Given the description of an element on the screen output the (x, y) to click on. 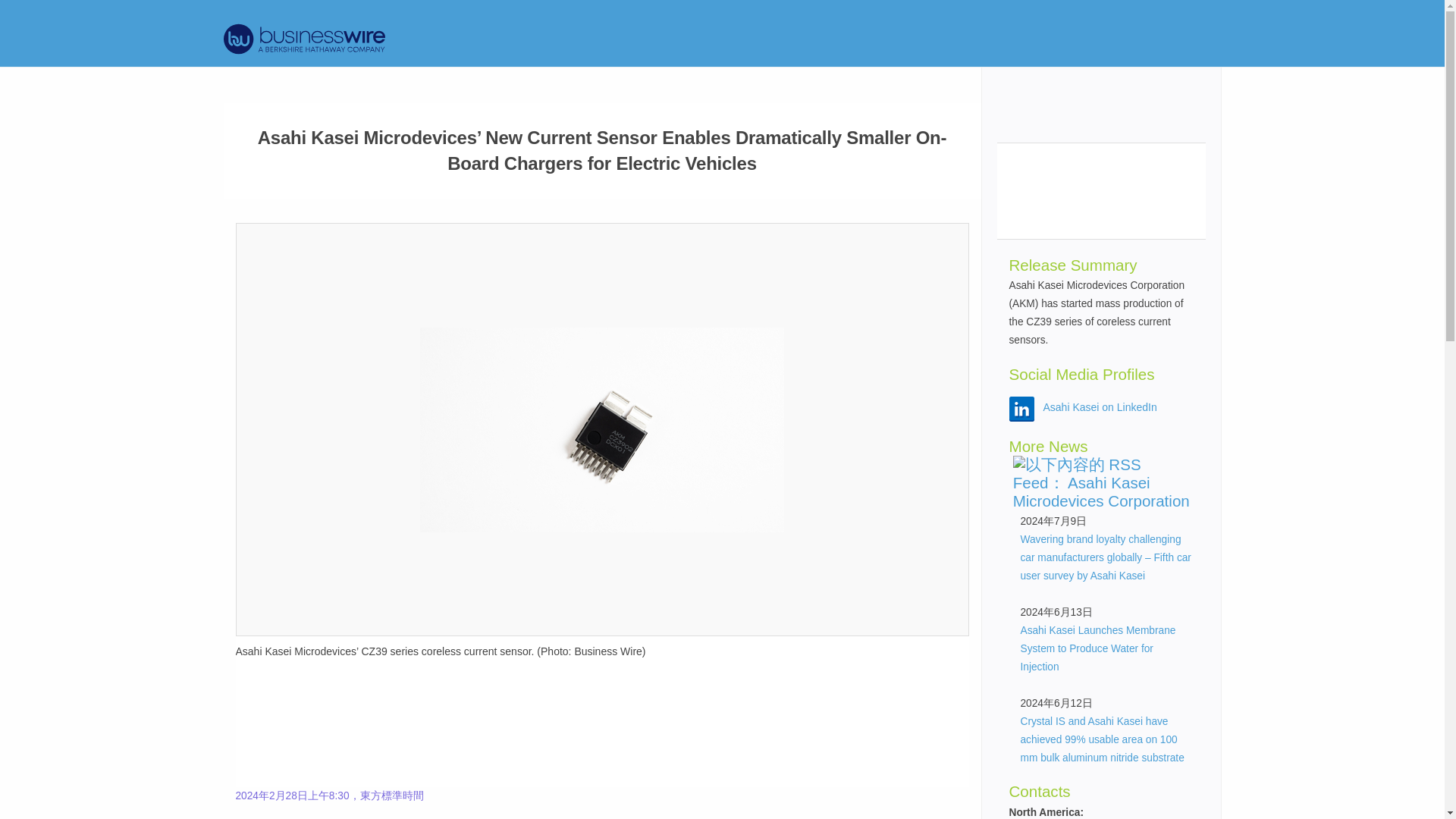
Asahi Kasei on LinkedIn (1100, 407)
